Given the description of an element on the screen output the (x, y) to click on. 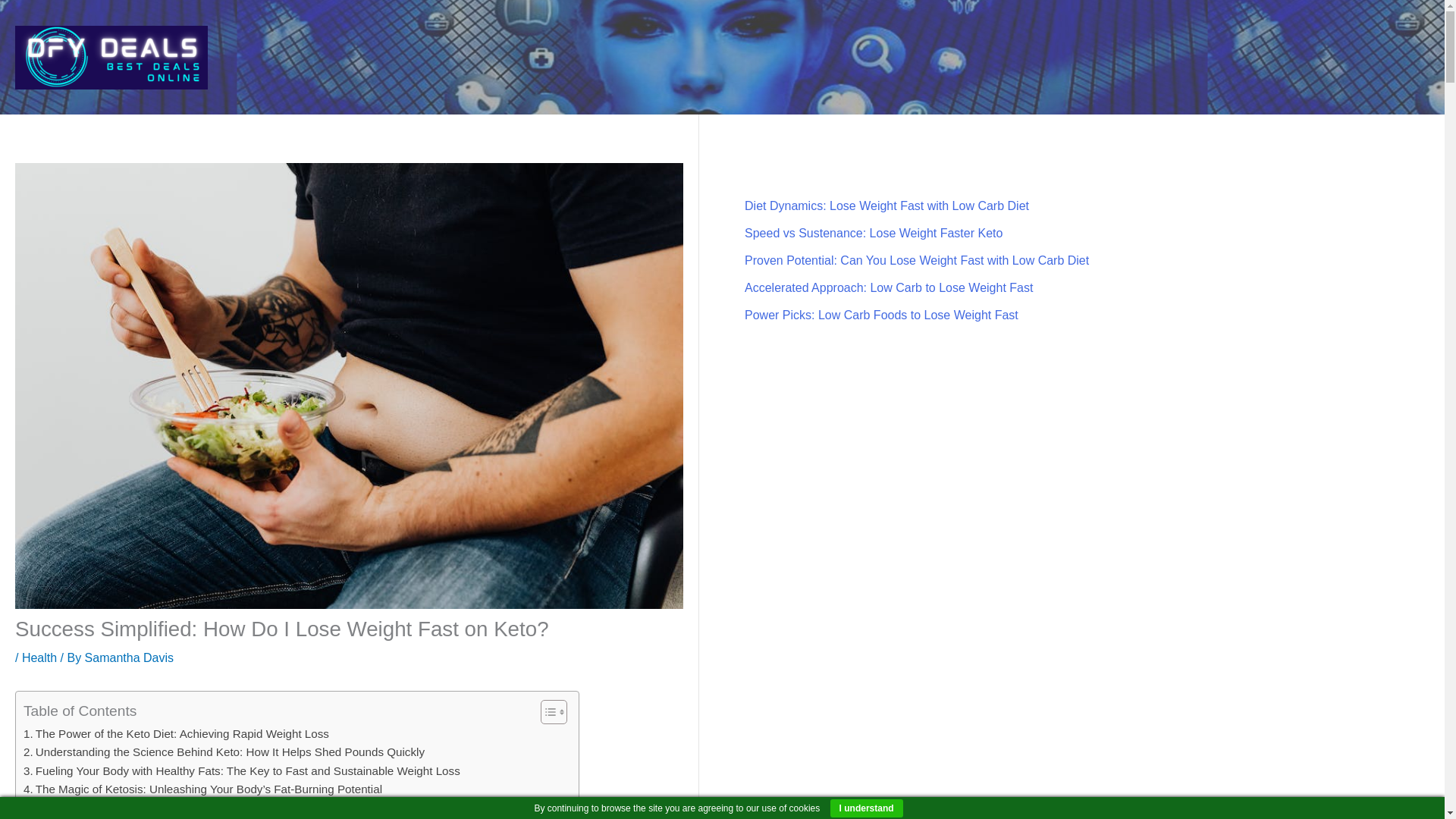
View all posts by Samantha Davis (128, 657)
The Power of the Keto Diet: Achieving Rapid Weight Loss (176, 733)
Samantha Davis (128, 657)
The Power of the Keto Diet: Achieving Rapid Weight Loss (176, 733)
Health (38, 657)
